Given the description of an element on the screen output the (x, y) to click on. 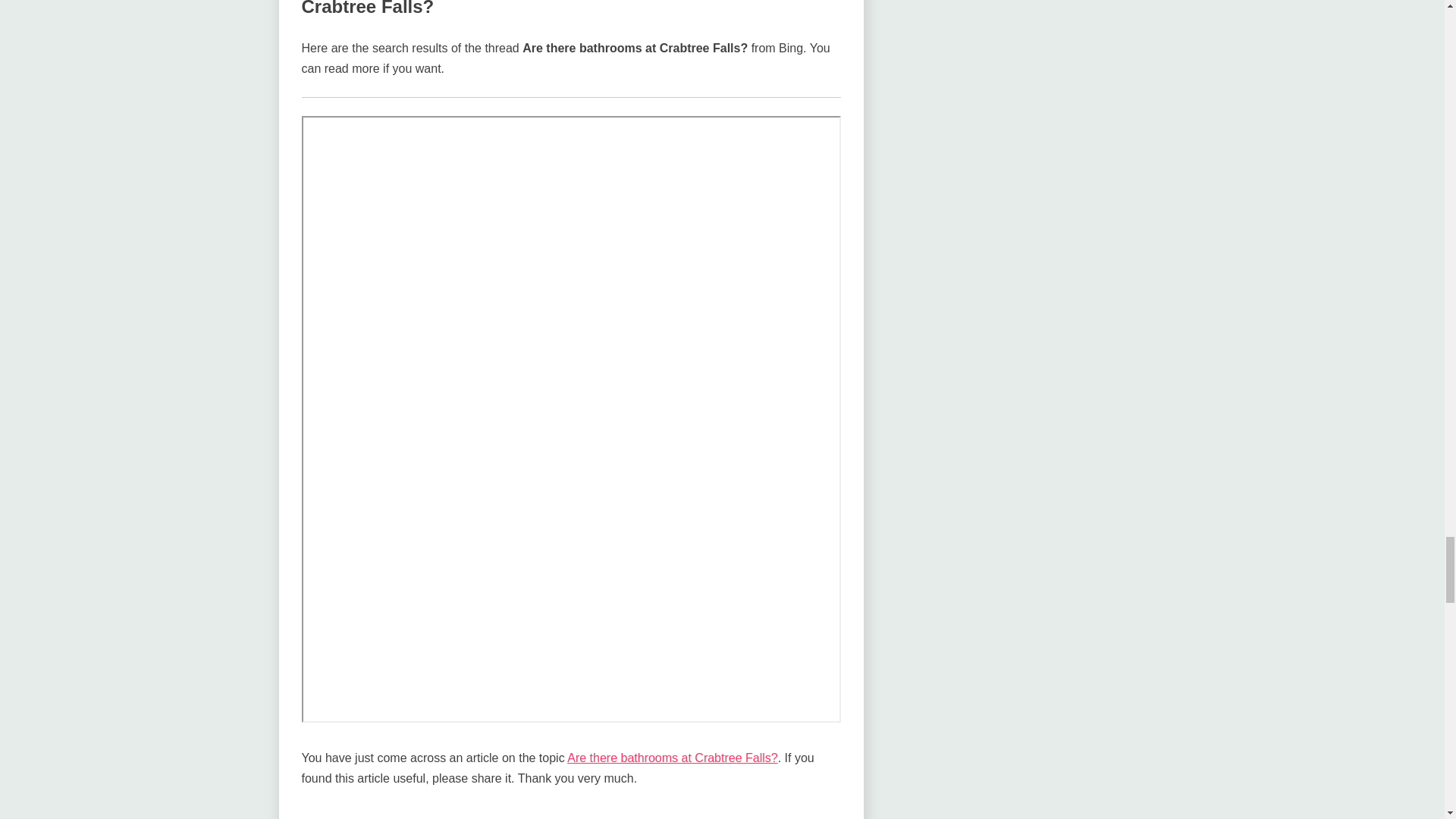
Are there bathrooms at Crabtree Falls? (672, 757)
